Given the description of an element on the screen output the (x, y) to click on. 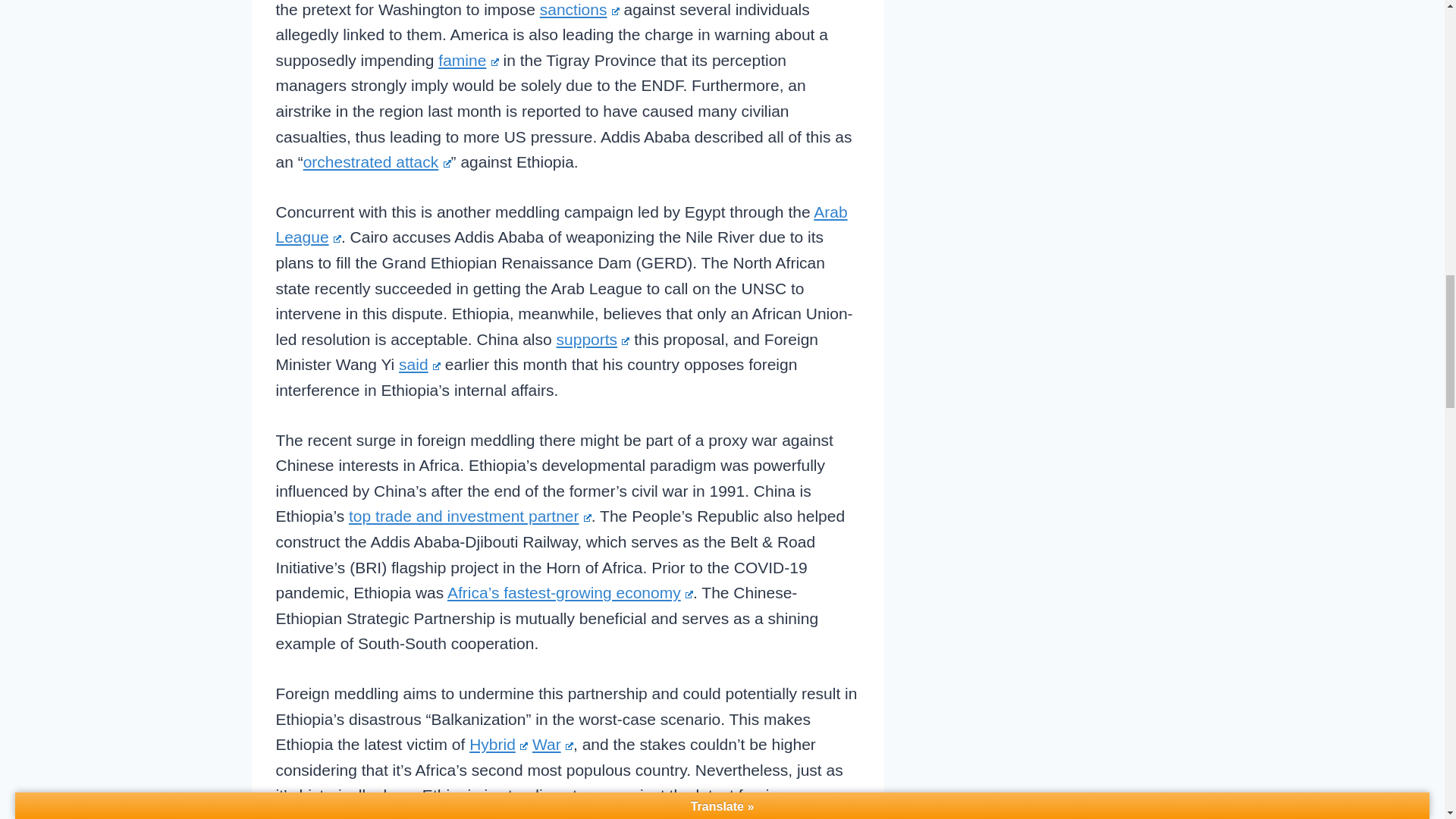
supports (593, 339)
War (552, 743)
sanctions (580, 9)
Hybrid (497, 743)
said (419, 364)
top trade and investment partner (470, 515)
famine (467, 59)
orchestrated attack (376, 161)
Arab League (561, 224)
